Given the description of an element on the screen output the (x, y) to click on. 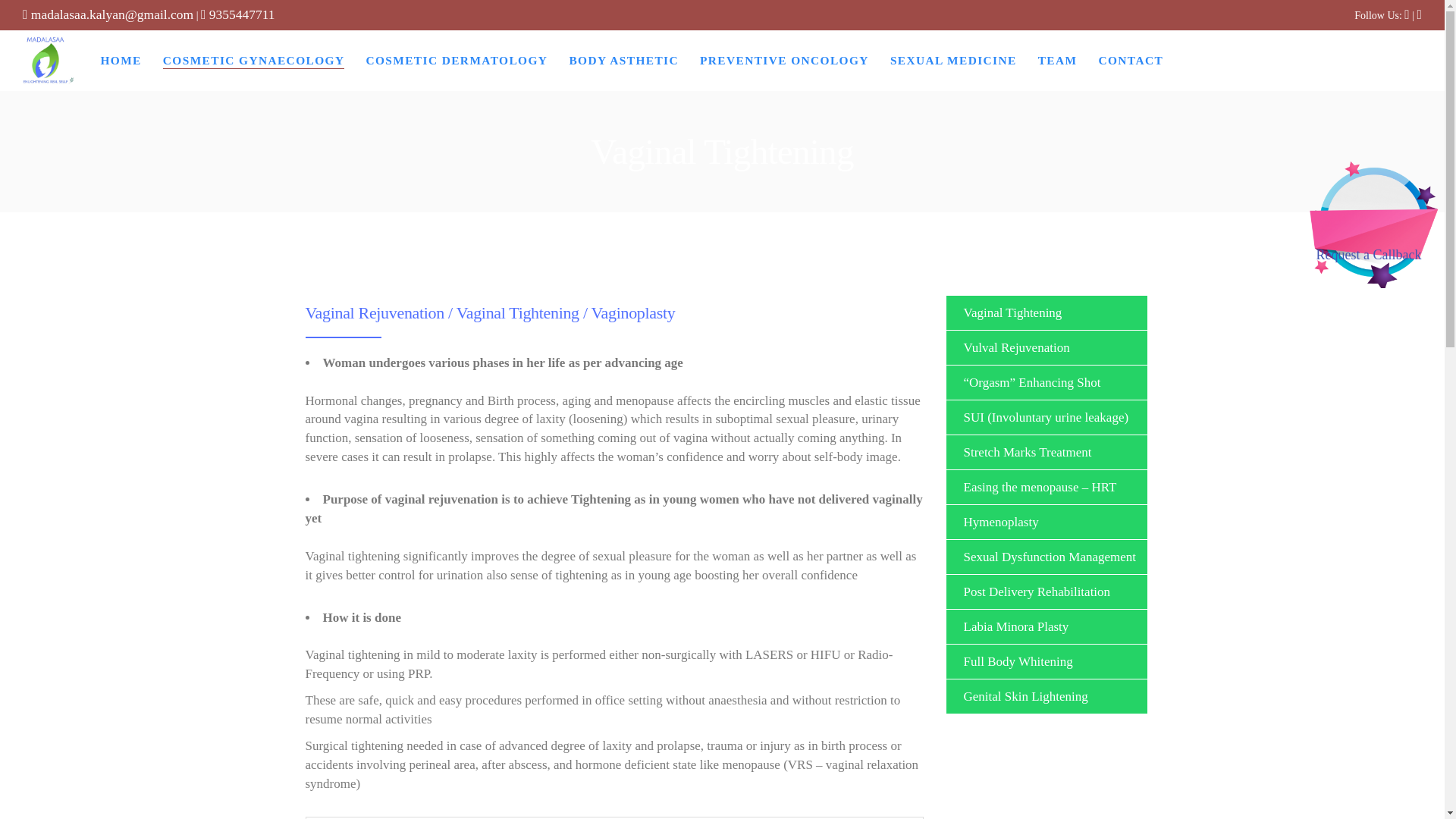
COSMETIC GYNAECOLOGY (254, 60)
9355447711 (237, 14)
COSMETIC DERMATOLOGY (456, 60)
